Given the description of an element on the screen output the (x, y) to click on. 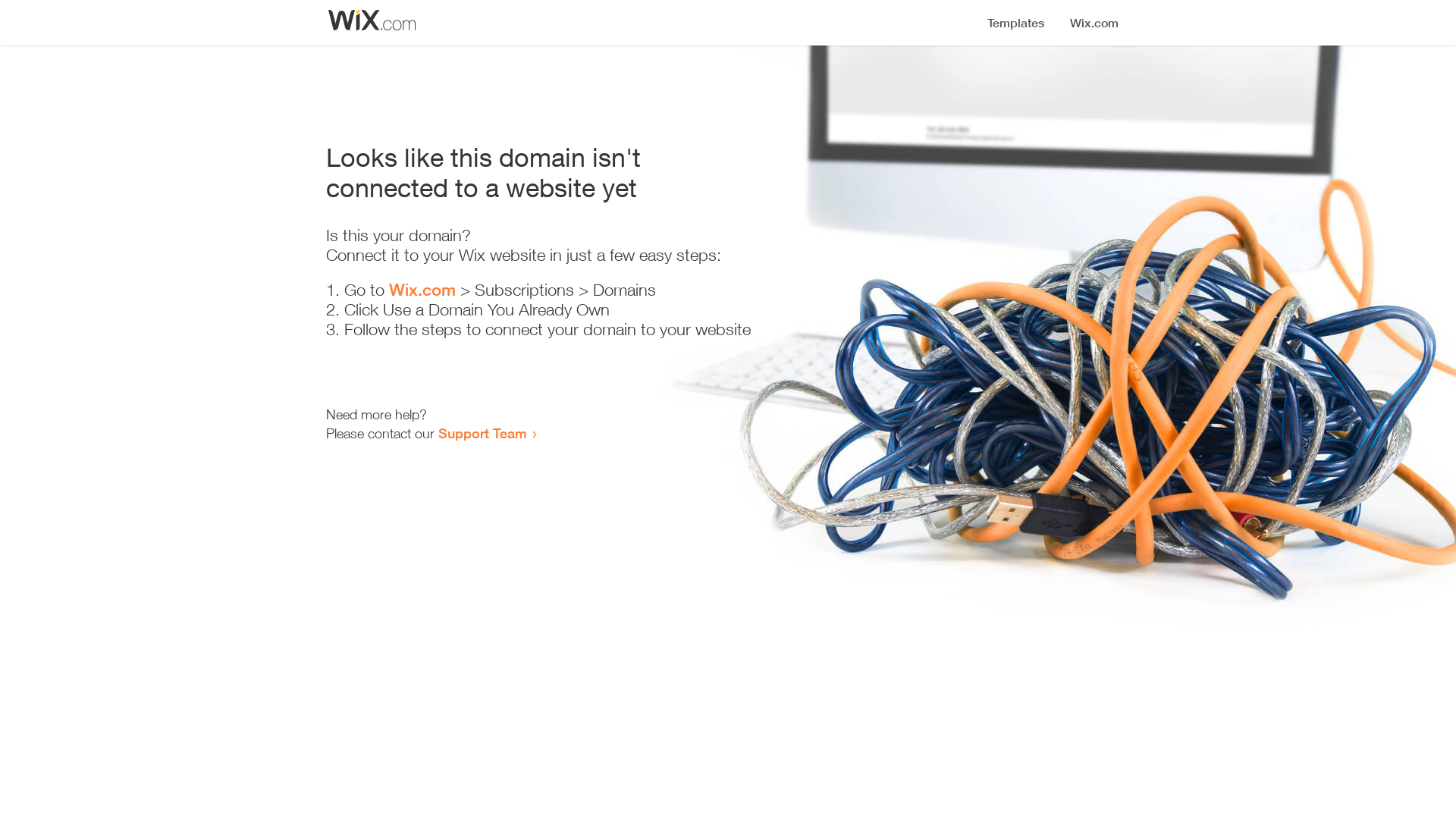
Wix.com Element type: text (422, 289)
Support Team Element type: text (482, 432)
